Given the description of an element on the screen output the (x, y) to click on. 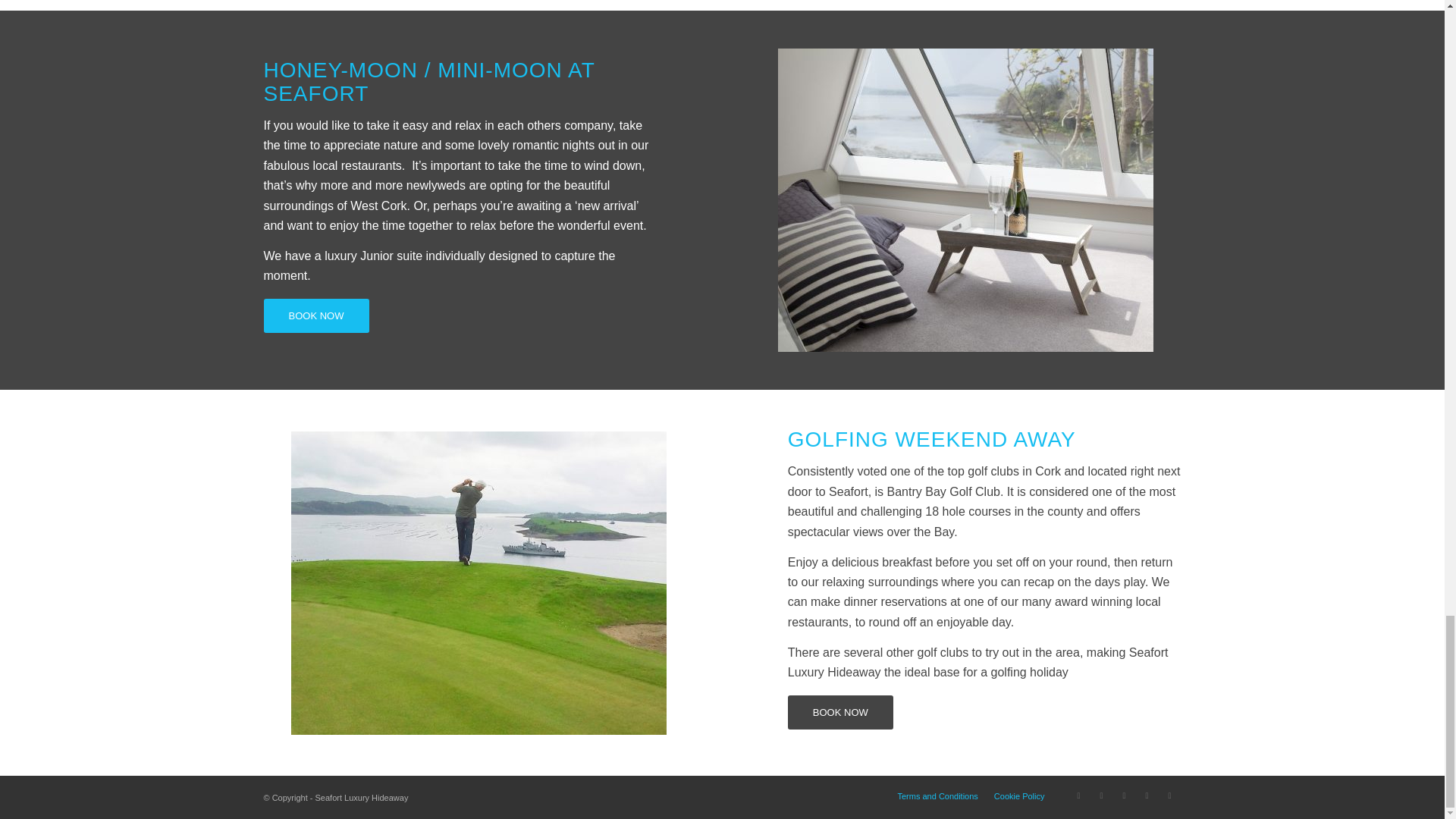
Facebook (1101, 794)
BOOK NOW (316, 315)
Twitter (1078, 794)
Instagram (1146, 794)
BOOK NOW (840, 712)
Pinterest (1124, 794)
Gplus (1169, 794)
